Given the description of an element on the screen output the (x, y) to click on. 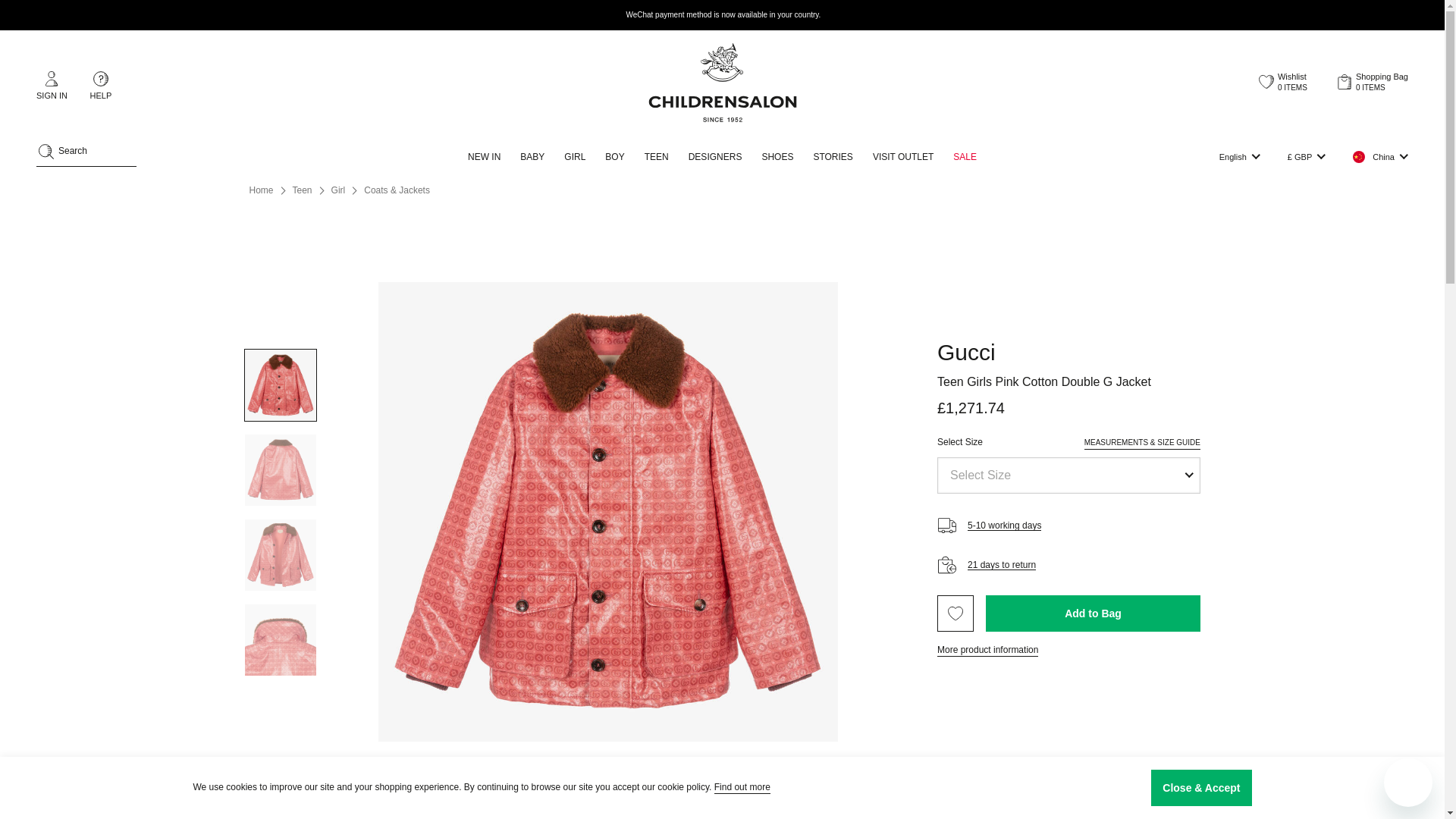
Home (260, 190)
SALE (965, 157)
Add to Wishlist (955, 613)
BABY (532, 157)
Wishlist (1283, 82)
Home (260, 190)
BOY (614, 157)
TEEN (656, 157)
Add to Bag (1092, 613)
SHOES (777, 157)
Gucci (966, 351)
GIRL (574, 157)
STORIES (1283, 82)
More product information (832, 157)
